Given the description of an element on the screen output the (x, y) to click on. 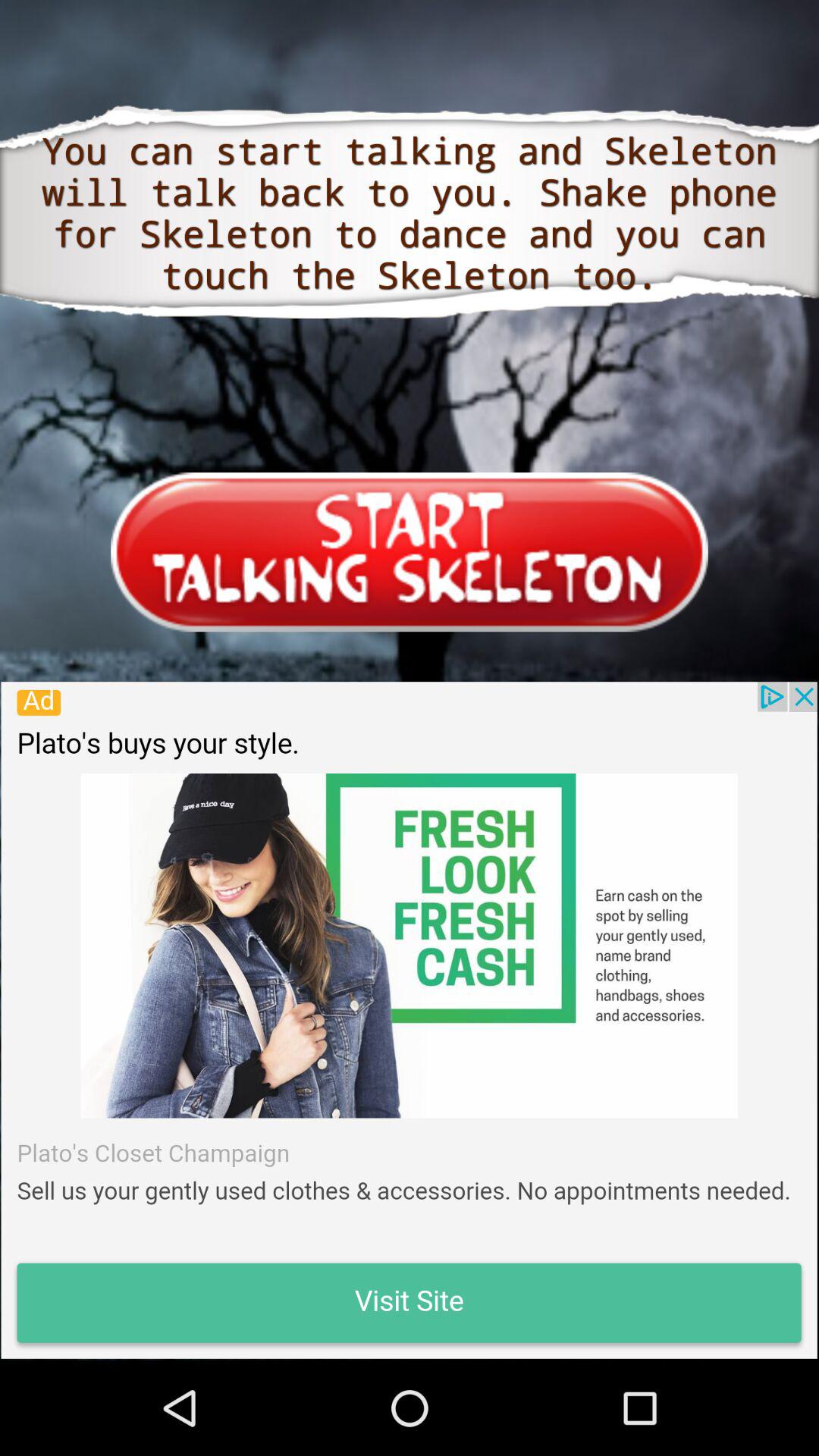
app open login (409, 552)
